Given the description of an element on the screen output the (x, y) to click on. 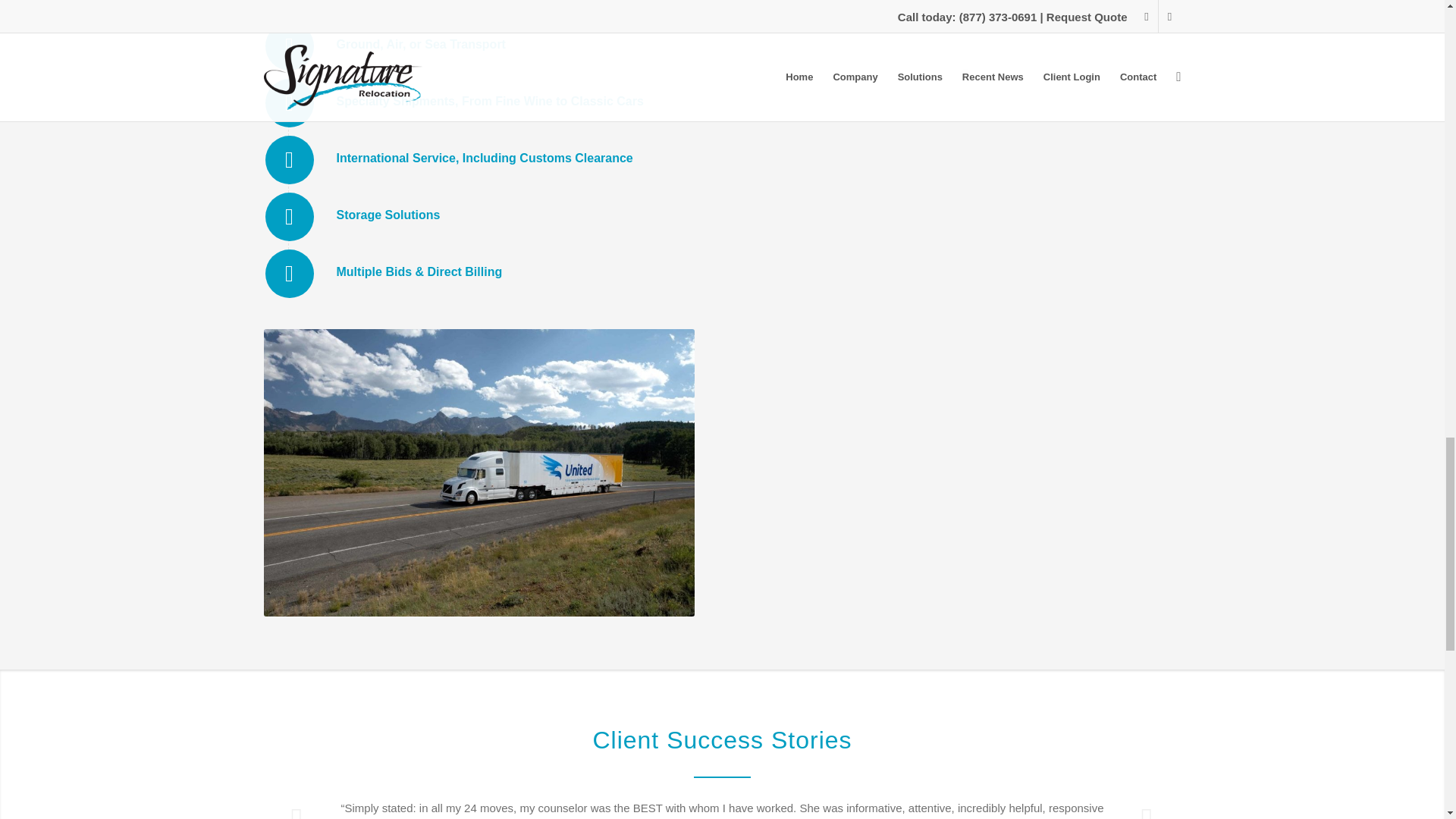
moving-van (479, 472)
Previous (297, 807)
Next (1146, 807)
